Given the description of an element on the screen output the (x, y) to click on. 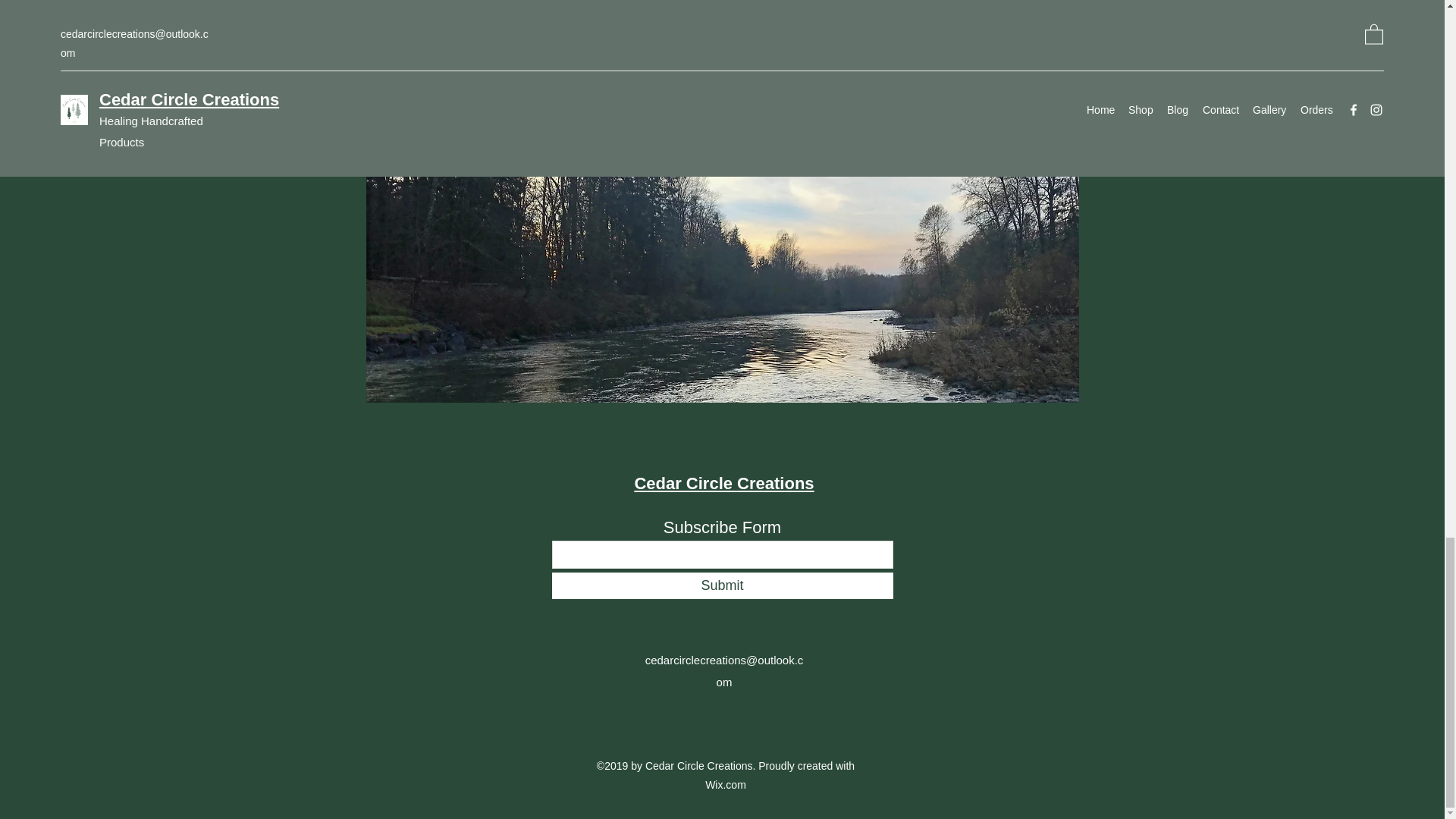
Cedar Circle Creations (723, 483)
Submit (722, 585)
